Given the description of an element on the screen output the (x, y) to click on. 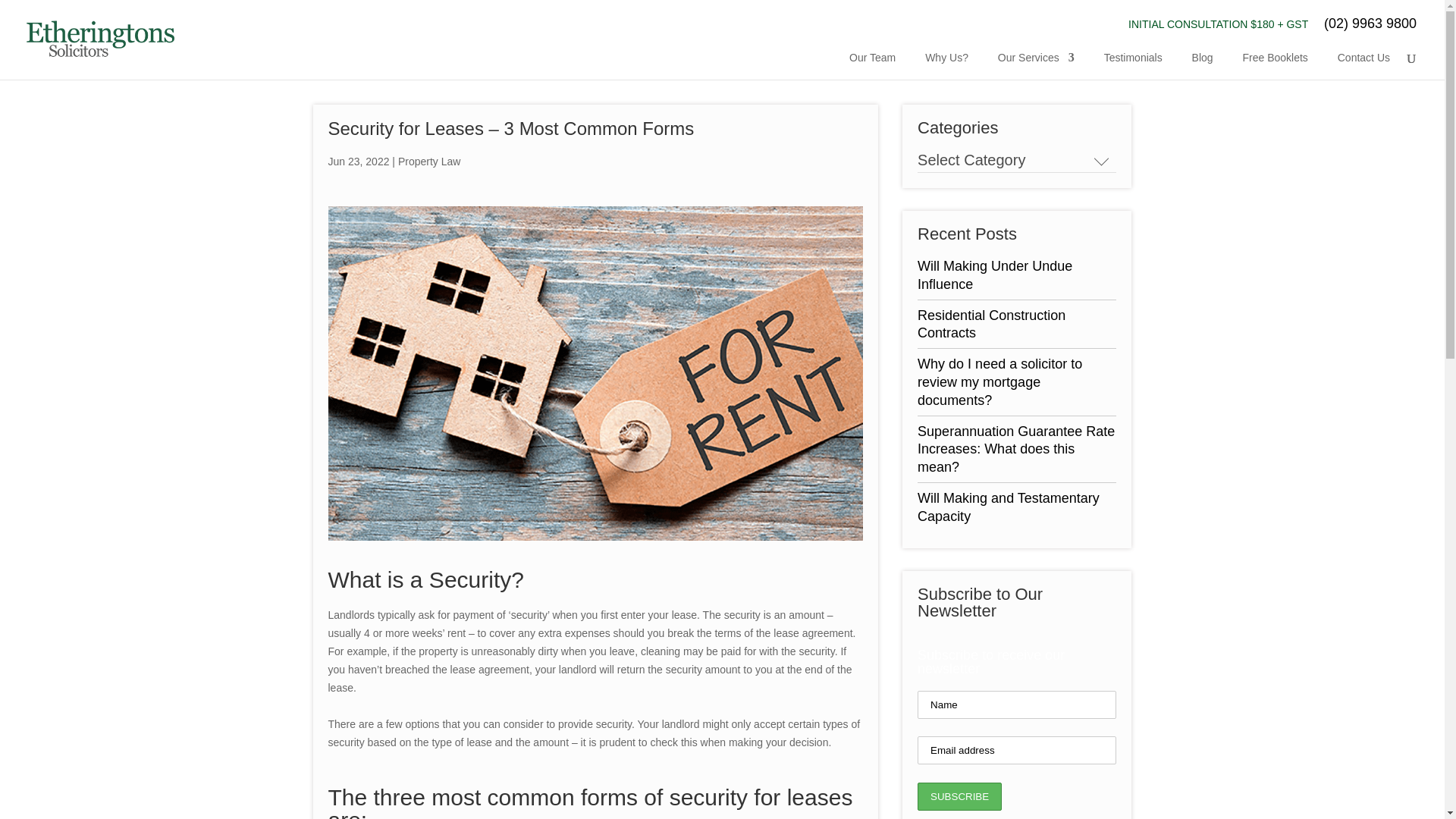
Property Law (428, 161)
Will Making and Testamentary Capacity (1008, 507)
Free Booklets (1274, 62)
SUBSCRIBE  (959, 796)
Blog (1202, 62)
Why Us? (946, 62)
SUBSCRIBE  (959, 796)
Our Team (871, 62)
Our Services (1035, 62)
Why do I need a solicitor to review my mortgage documents? (999, 381)
Contact Us (1364, 62)
Will Making Under Undue Influence (994, 274)
Testimonials (1132, 62)
Residential Construction Contracts (991, 324)
